Given the description of an element on the screen output the (x, y) to click on. 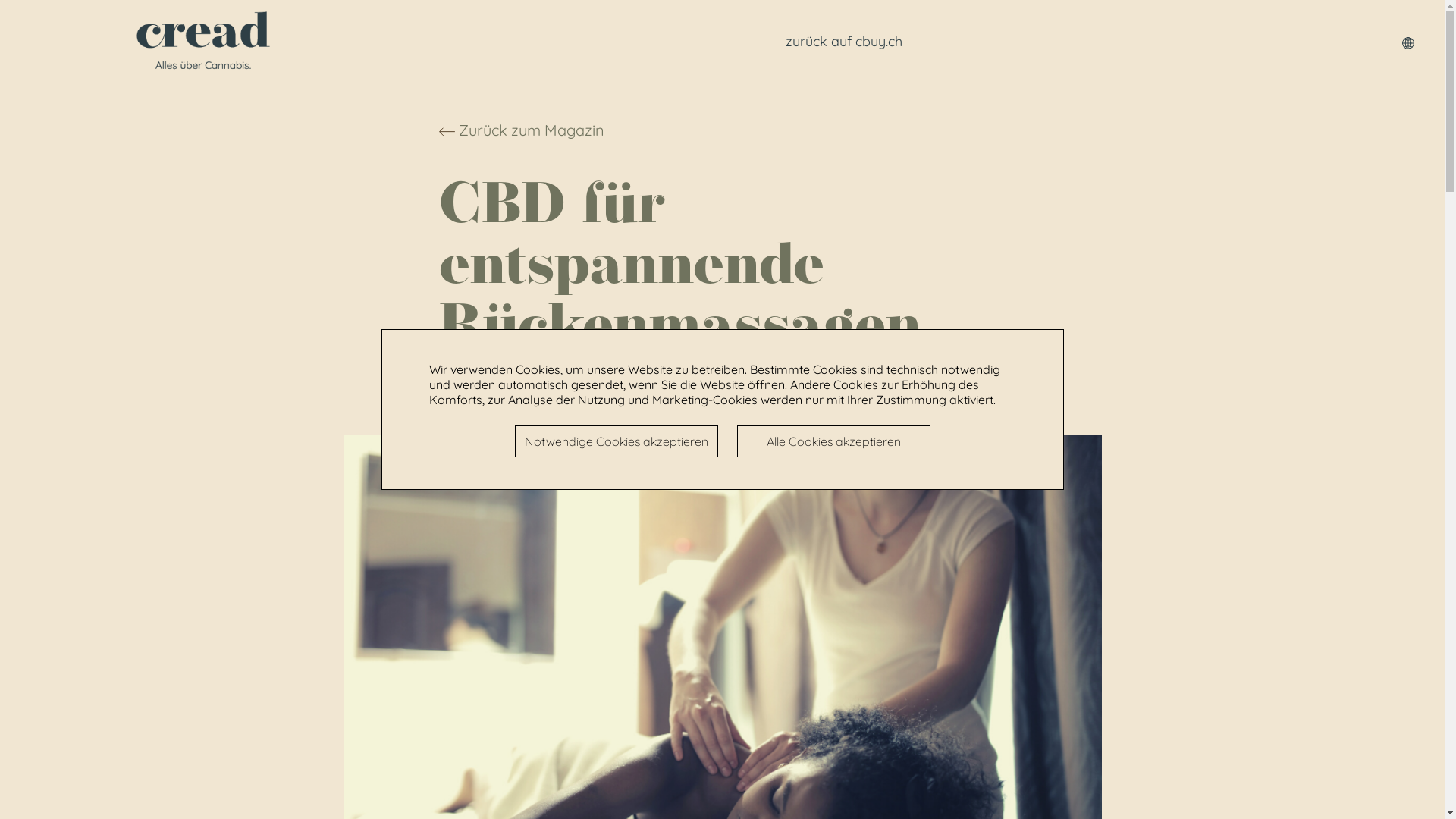
Notwendige Cookies akzeptieren Element type: text (615, 441)
Alle Cookies akzeptieren Element type: text (833, 441)
DE Element type: text (1404, 42)
